Given the description of an element on the screen output the (x, y) to click on. 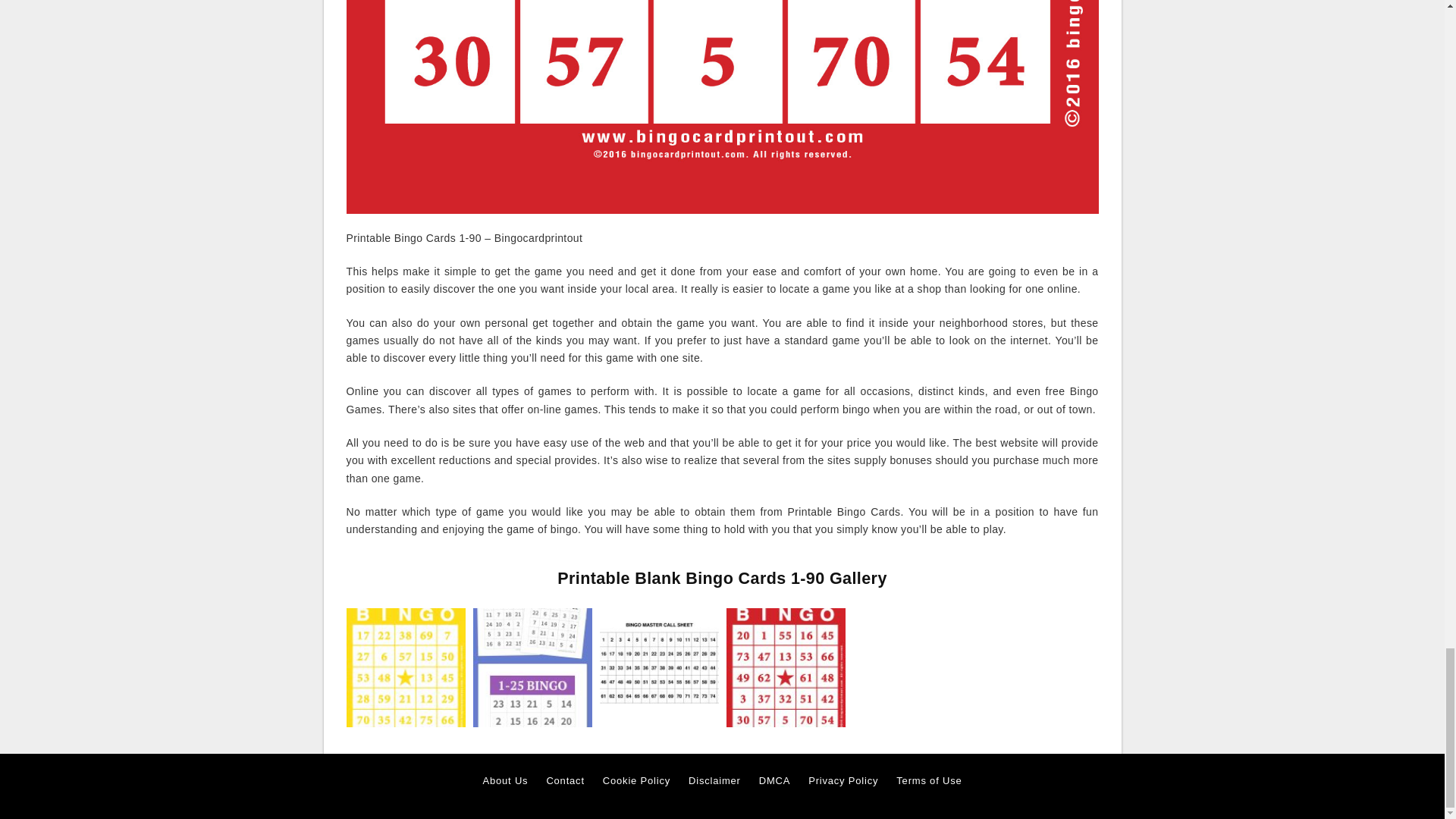
Contact (564, 781)
DMCA (774, 781)
Printable Bingo Cards 1 90   Bingocardprintout (405, 667)
Privacy Policy (842, 781)
About Us (505, 781)
Cookie Policy (635, 781)
Printable Bingo Cards 1 90   Bingocardprintout (785, 666)
Terms of Use (928, 781)
Printable Bingo Cards 1 90   Bingocardprintout (405, 666)
